Given the description of an element on the screen output the (x, y) to click on. 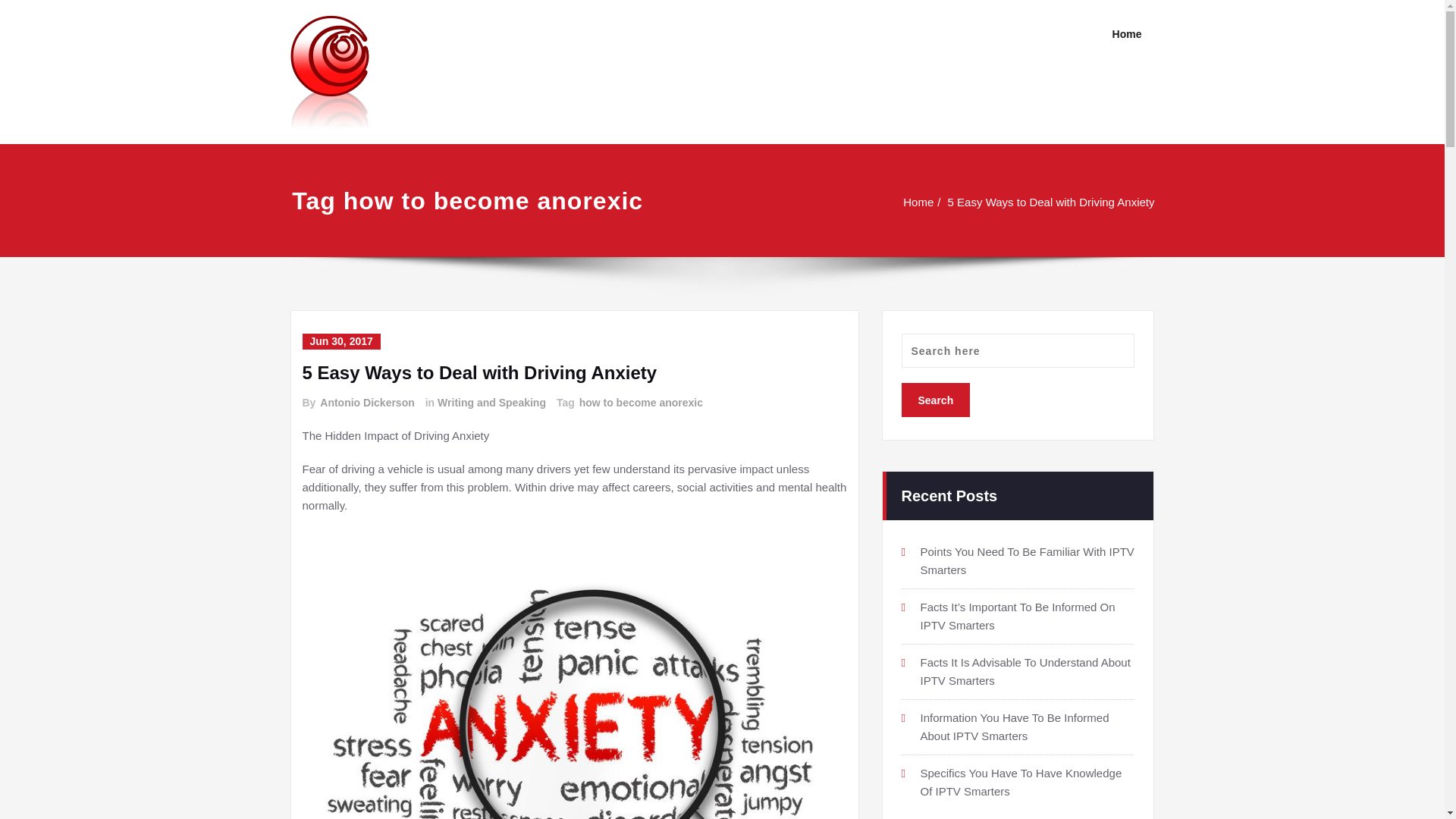
Search (935, 399)
Search (935, 399)
how to become anorexic (640, 402)
Writing and Speaking (490, 402)
Antonio Dickerson (365, 402)
Specifics You Have To Have Knowledge Of IPTV Smarters (1021, 773)
5 Easy Ways to Deal with Driving Anxiety (478, 372)
Search (935, 386)
Points You Need To Be Familiar With IPTV Smarters (1027, 547)
Jun 30, 2017 (340, 341)
Facts It Is Advisable To Understand About IPTV Smarters (1025, 660)
Information You Have To Be Informed About IPTV Smarters (1014, 717)
